Given the description of an element on the screen output the (x, y) to click on. 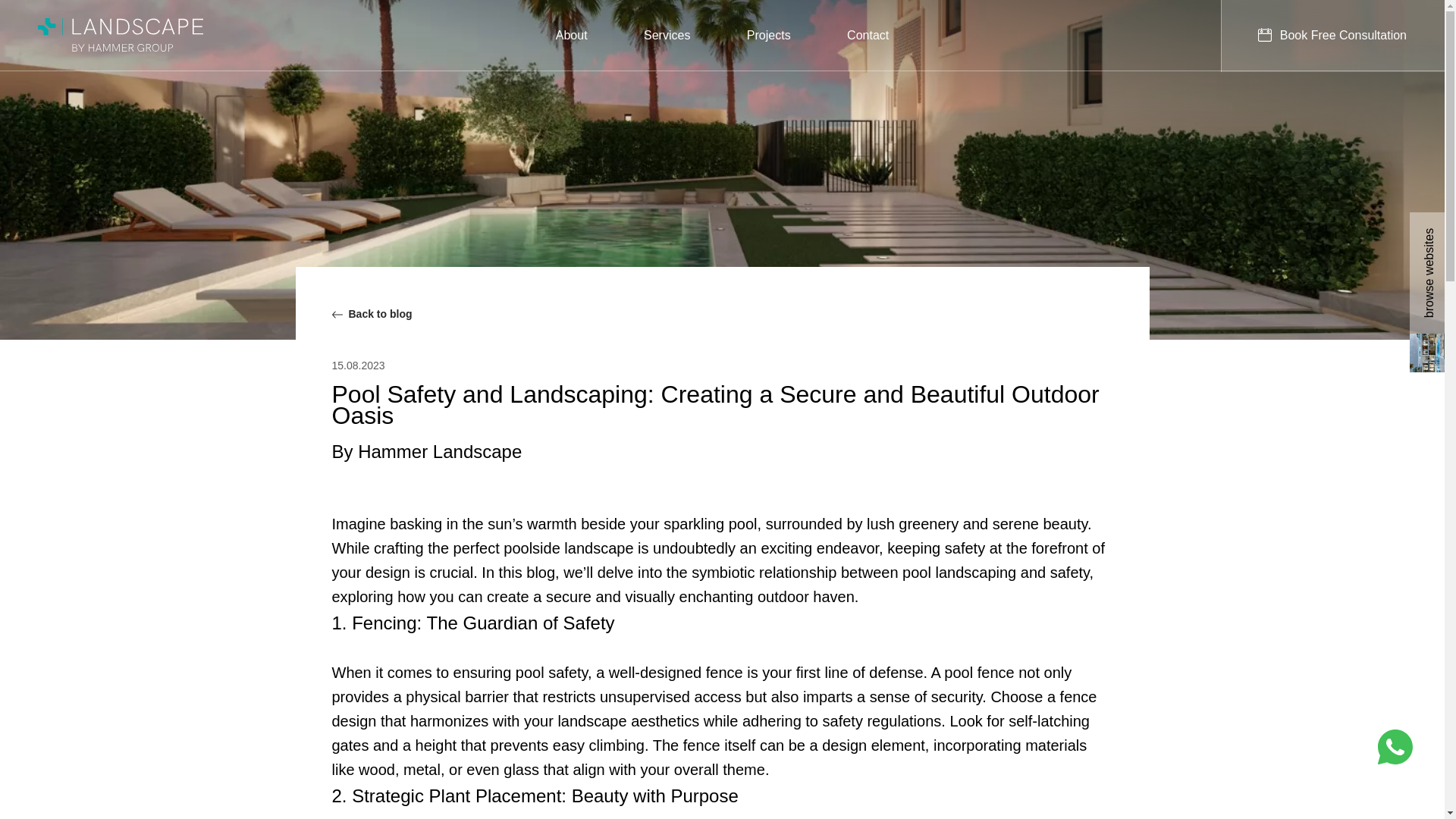
About (572, 34)
Contact (867, 34)
Back to blog (371, 331)
Services (666, 34)
Projects (768, 34)
